Given the description of an element on the screen output the (x, y) to click on. 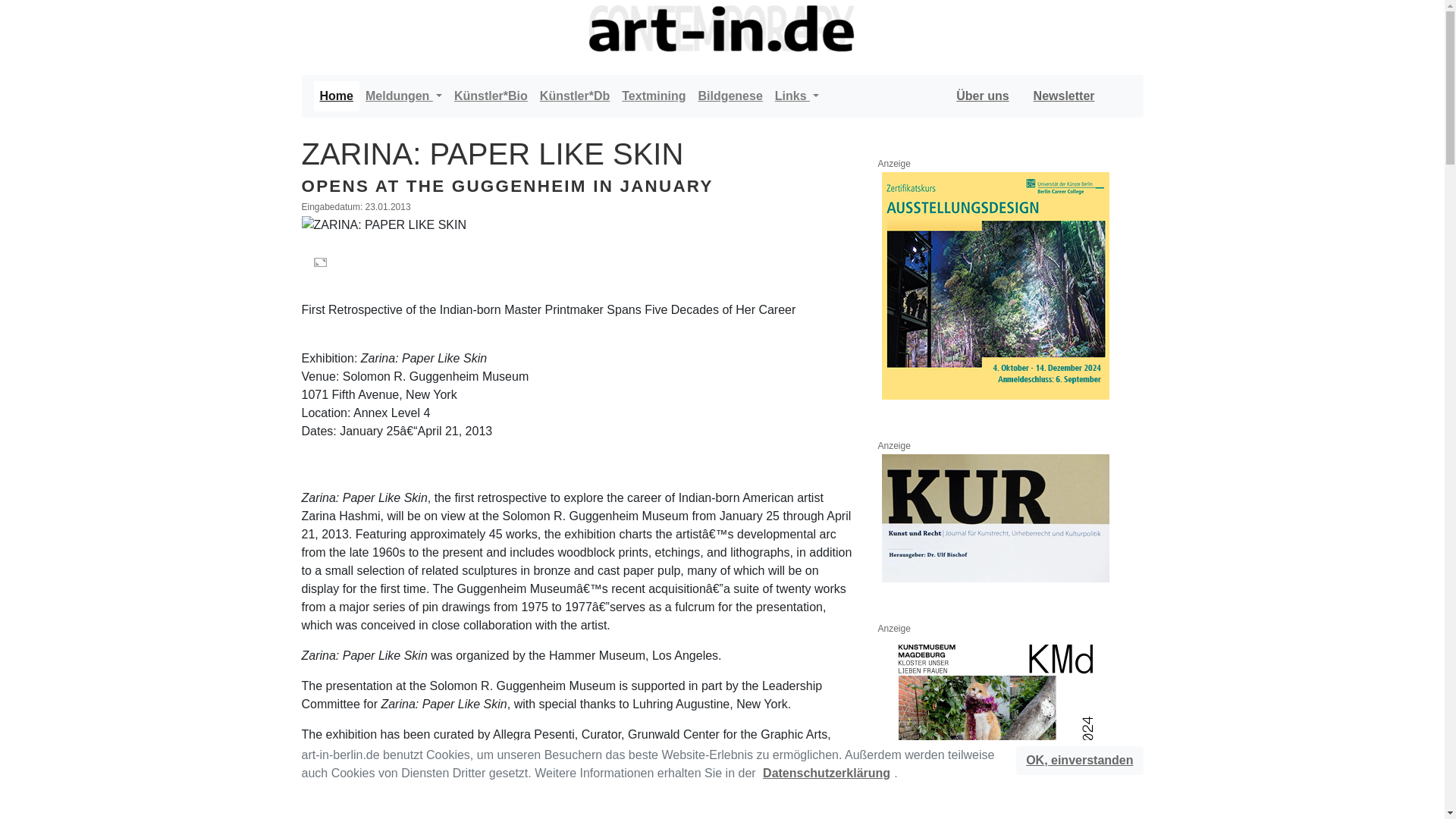
Bildgenese (729, 96)
Newsletter (1064, 96)
Abb.: ZARINA: PAPER LIKE SKIN  (384, 225)
UDK Ausstellungsdesign (994, 285)
Textmining (653, 96)
Magdeburg  (994, 728)
Meldungen (403, 96)
Links (796, 96)
